Given the description of an element on the screen output the (x, y) to click on. 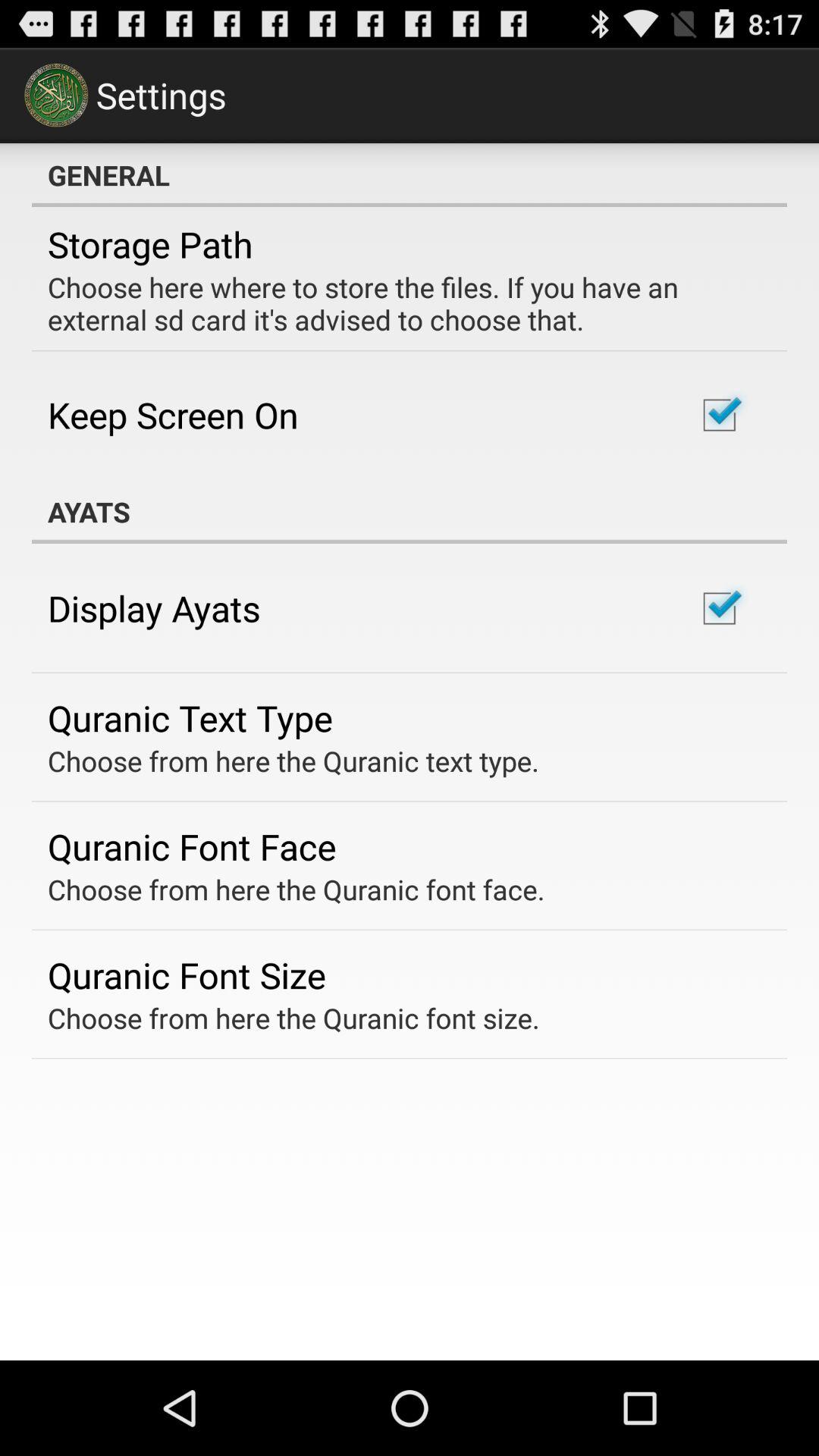
click icon above ayats app (172, 414)
